Given the description of an element on the screen output the (x, y) to click on. 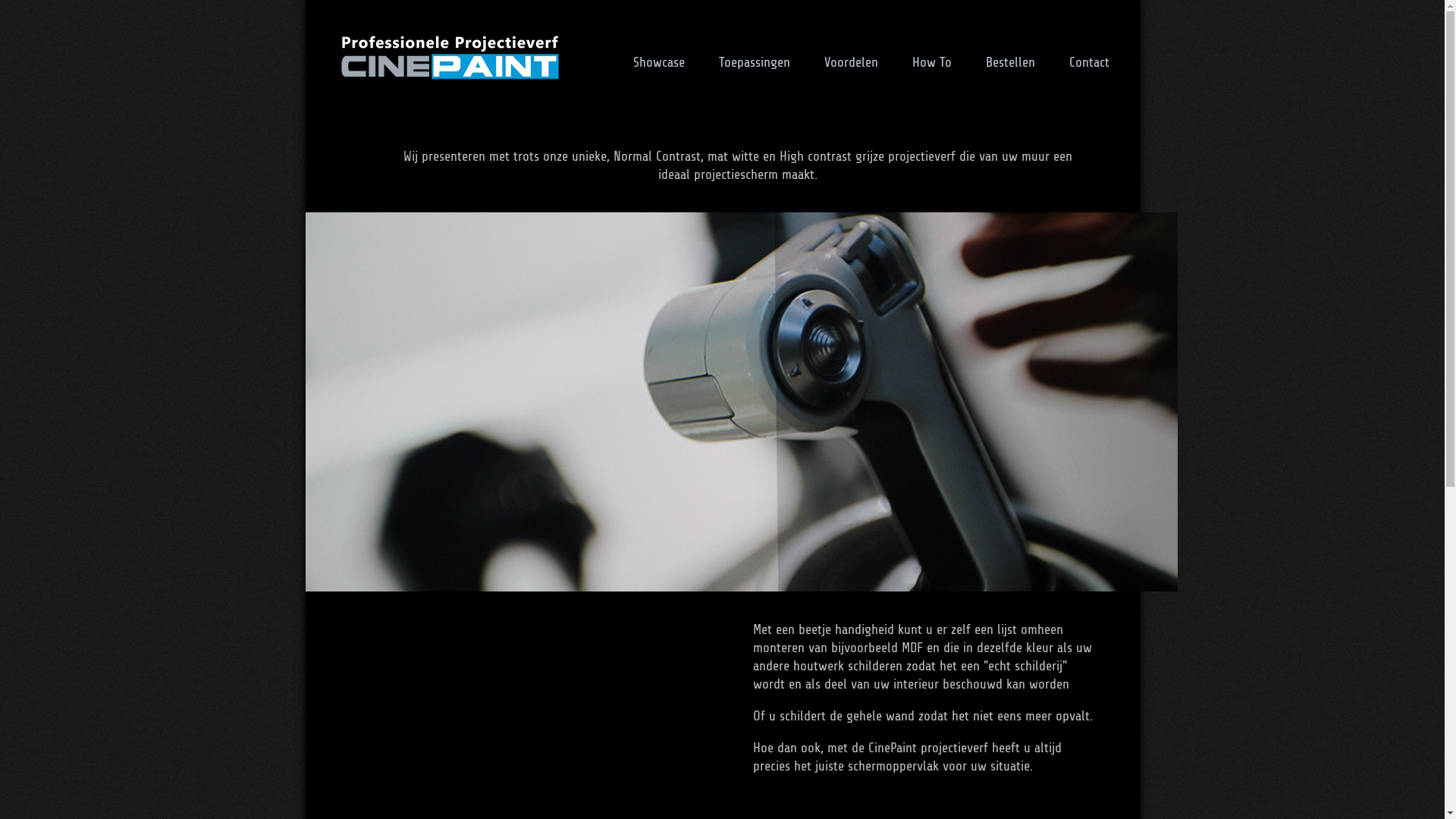
Toepassingen Element type: text (754, 61)
Showcase Element type: text (658, 61)
How To Element type: text (931, 61)
Download technische fiche Element type: text (987, 339)
cinepaint Element type: hover (911, 274)
Bestel CinePaint online Element type: text (987, 305)
Bestellen Element type: text (1010, 61)
Contact Element type: text (1089, 61)
Cinepaint Element type: hover (448, 56)
Voordelen Element type: text (850, 61)
